Given the description of an element on the screen output the (x, y) to click on. 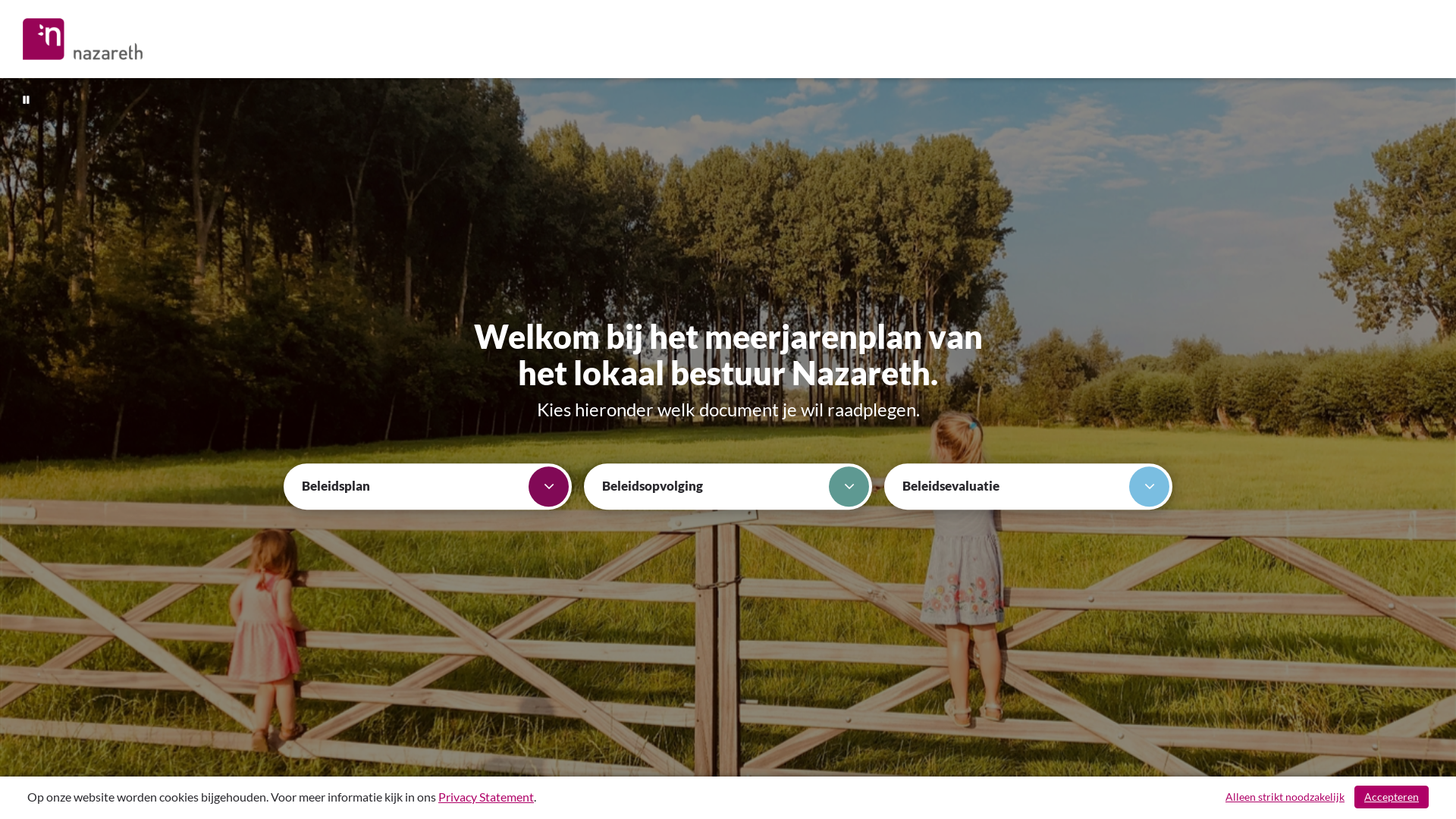
Privacy Statement Element type: text (485, 796)
Beleidsopvolging Element type: text (727, 486)
Alleen strikt noodzakelijk Element type: text (1284, 796)
Beleidsevaluatie Element type: text (1028, 486)
Beleidsplan Element type: text (427, 486)
Accepteren Element type: text (1391, 796)
